Given the description of an element on the screen output the (x, y) to click on. 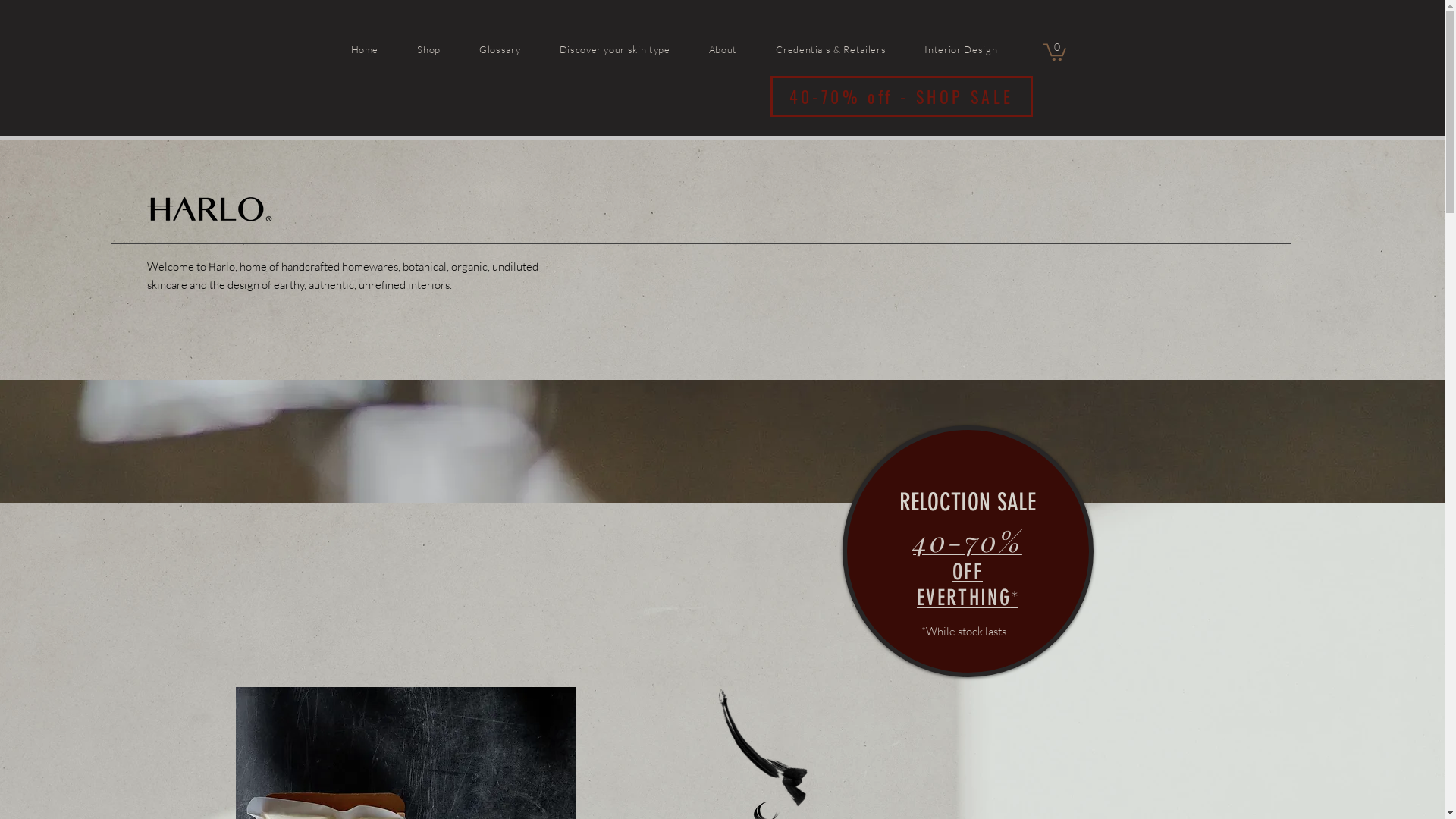
Interior Design Element type: text (978, 48)
40-70% off - SHOP SALE Element type: text (901, 95)
Home Element type: text (382, 48)
Credentials & Retailers Element type: text (848, 48)
Discover your skin type Element type: text (632, 48)
About Element type: text (740, 48)
Shop Element type: text (446, 48)
40-70% OFF
EVERTHING* Element type: text (967, 571)
0 Element type: text (1054, 50)
Glossary Element type: text (517, 48)
